Given the description of an element on the screen output the (x, y) to click on. 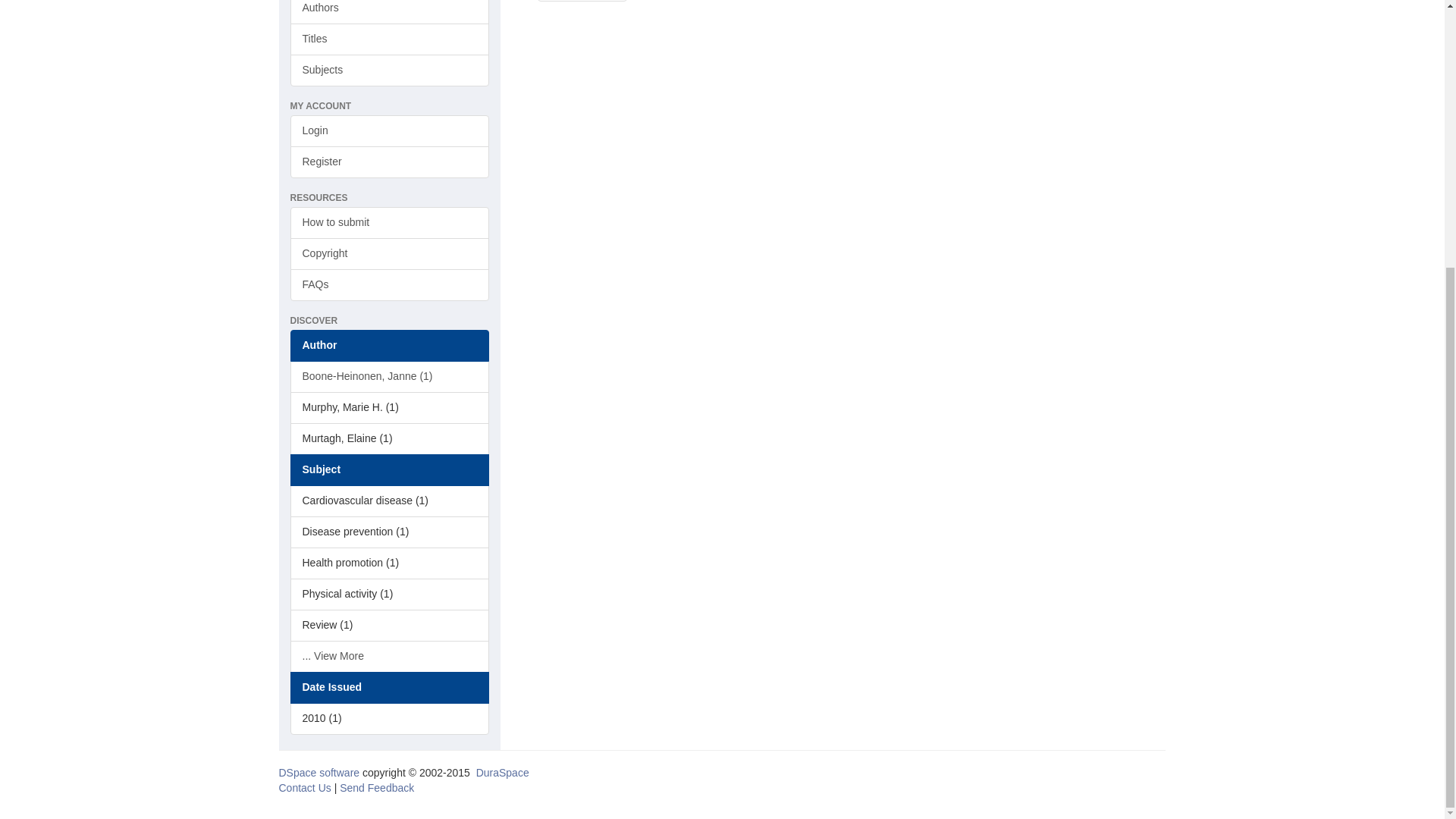
Titles (389, 39)
Author (389, 345)
... View More (389, 656)
Copyright (389, 254)
Subjects (389, 70)
Subject (389, 470)
Login (389, 131)
Authors (389, 12)
How to submit (389, 223)
Date Issued (389, 687)
